Given the description of an element on the screen output the (x, y) to click on. 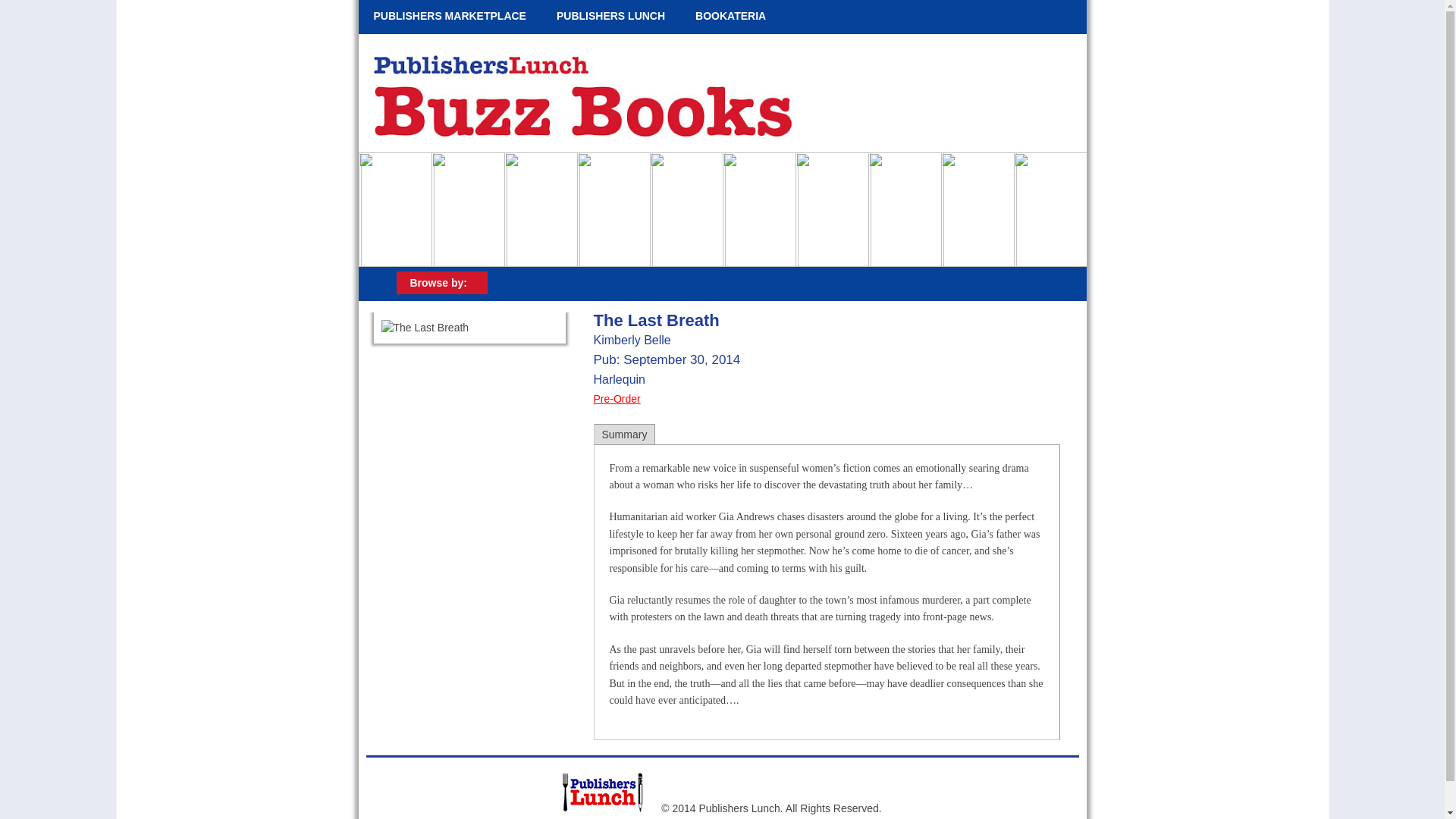
BOOKATERIA (729, 16)
PUBLISHERS LUNCH (610, 16)
PUBLISHERS MARKETPLACE (449, 16)
Buzz Books (577, 132)
